Given the description of an element on the screen output the (x, y) to click on. 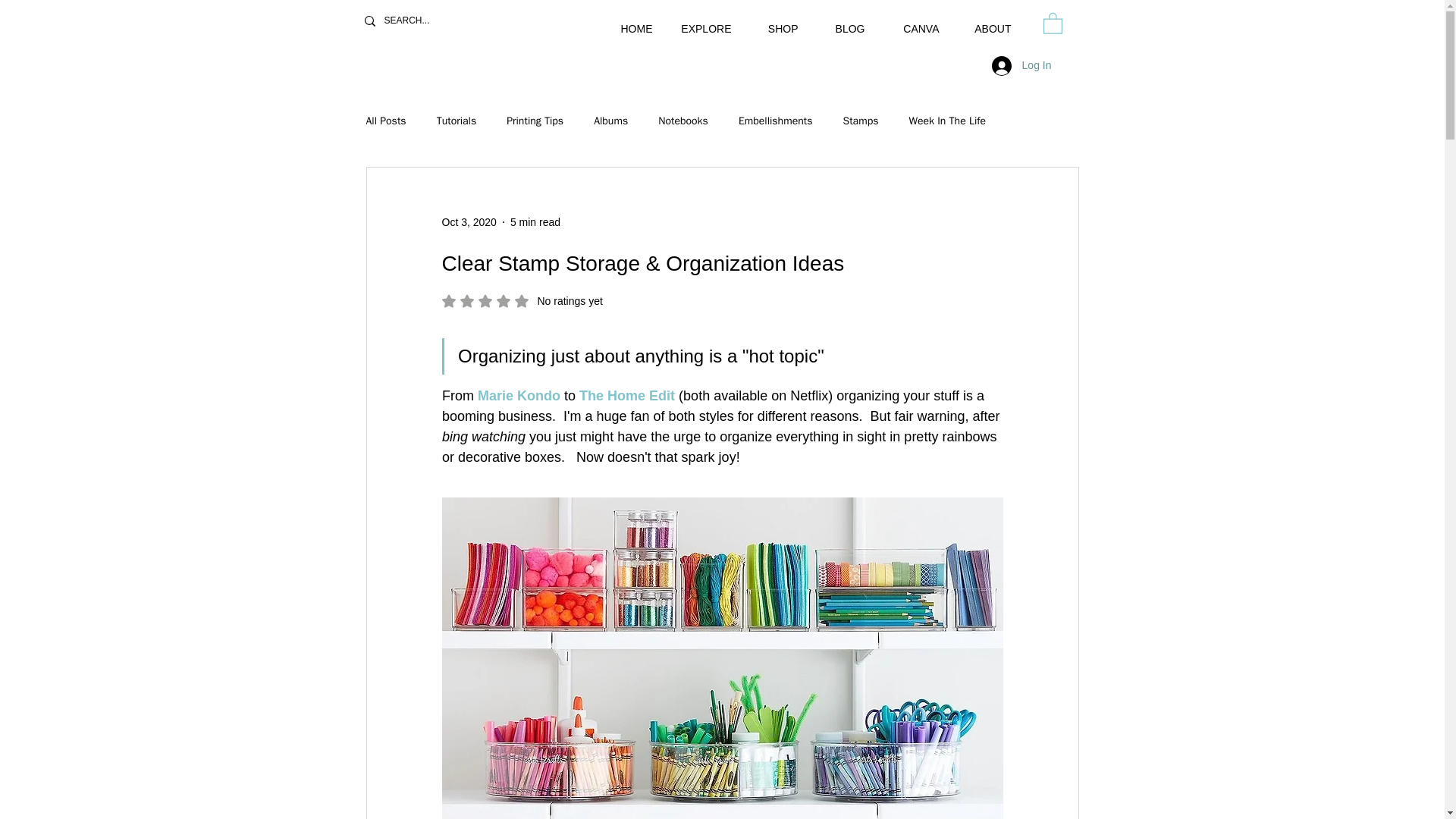
The Home Edit (627, 395)
ABOUT (988, 22)
EXPLORE (704, 22)
Log In (1021, 65)
5 min read (535, 221)
Oct 3, 2020 (468, 221)
Embellishments (775, 120)
BLOG (521, 300)
Stamps (843, 22)
